Given the description of an element on the screen output the (x, y) to click on. 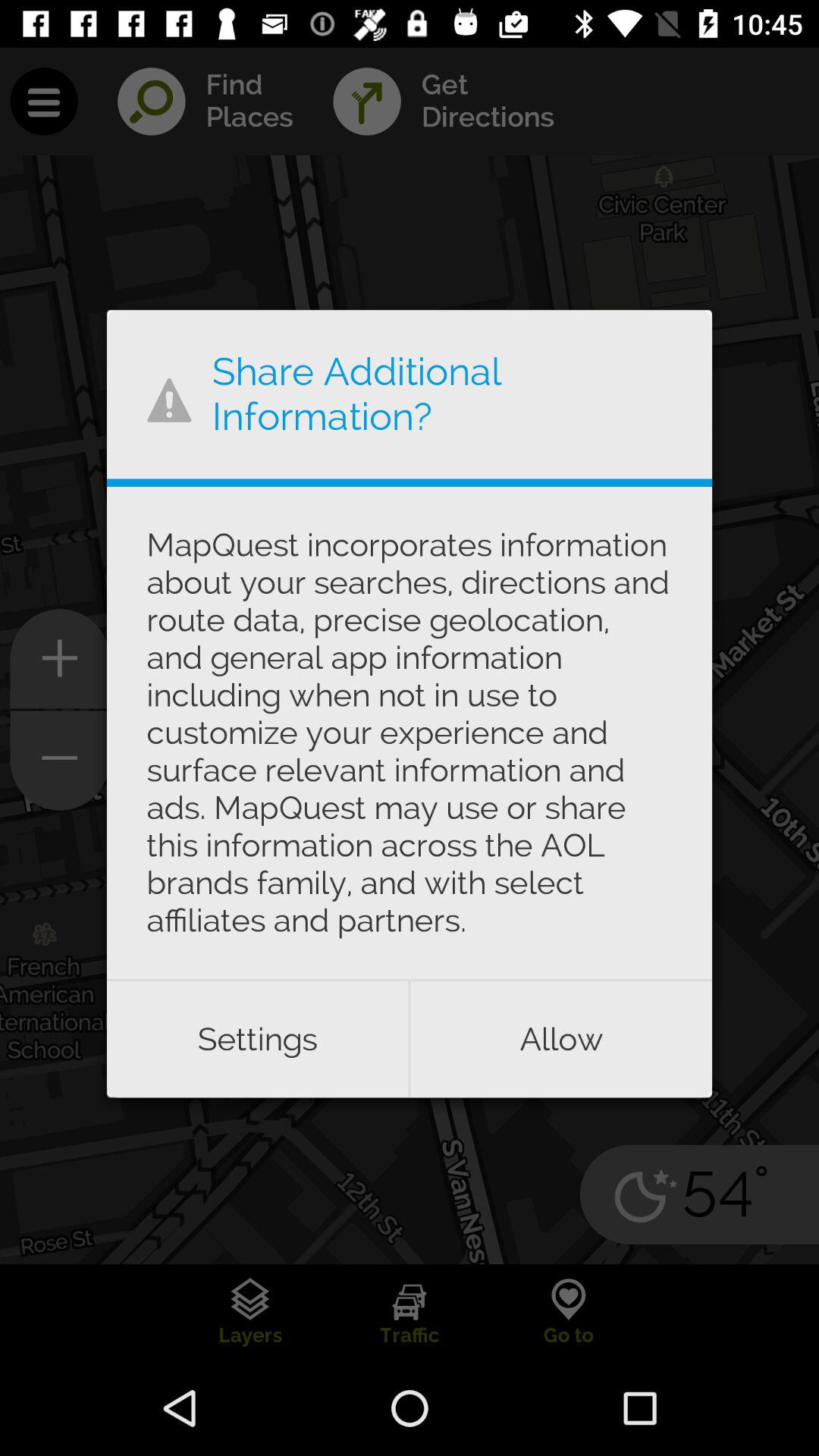
select settings item (257, 1039)
